Given the description of an element on the screen output the (x, y) to click on. 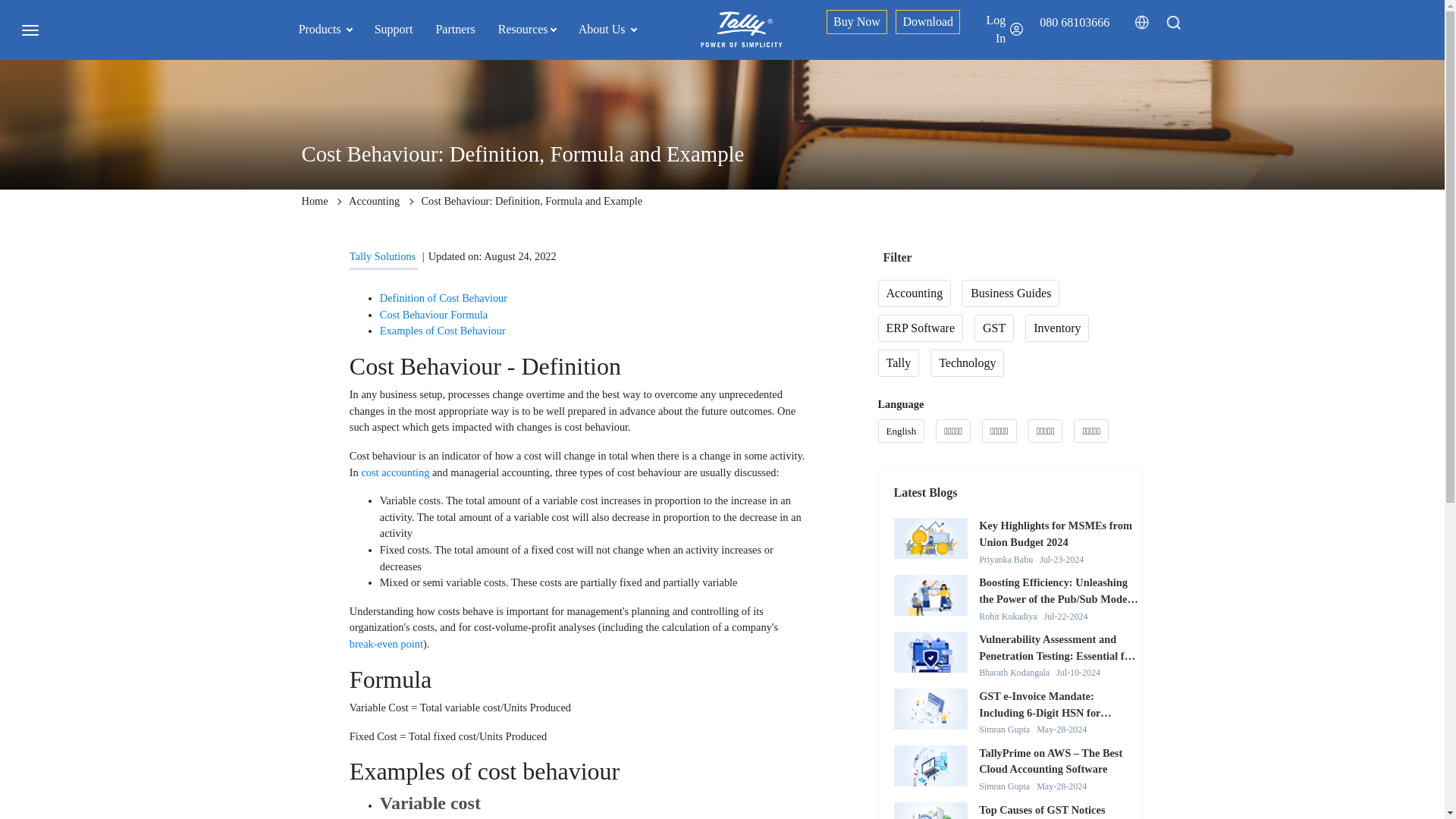
Toggle navigation (30, 29)
Support (393, 29)
Posts by Tally Solutions (381, 256)
Products (324, 29)
